Given the description of an element on the screen output the (x, y) to click on. 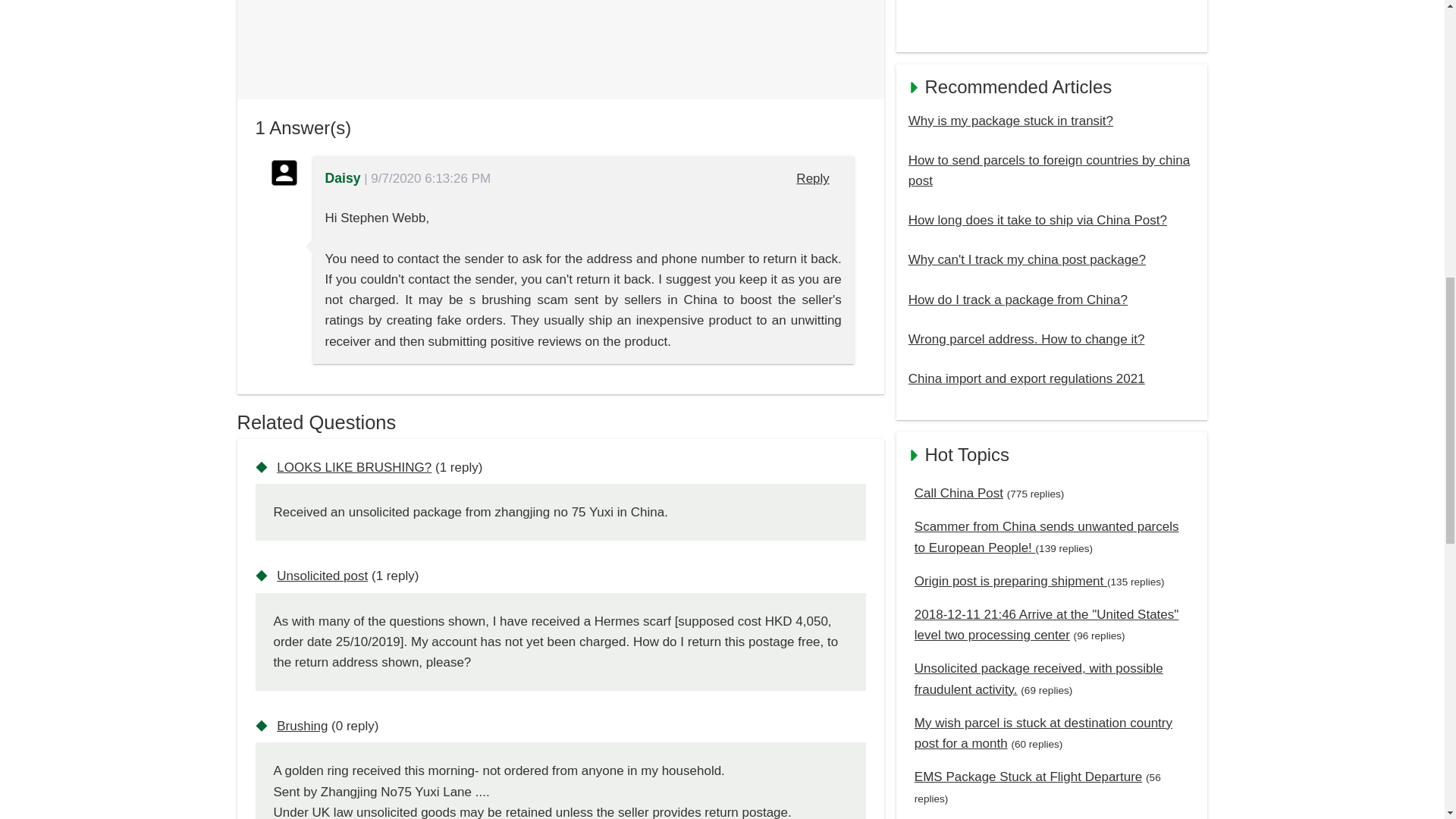
Unsolicited post (322, 575)
Reply (812, 178)
Call China Post (958, 493)
LOOKS LIKE BRUSHING? (353, 467)
Brushing (301, 726)
Unsolicited post (322, 575)
Brushing (301, 726)
Advertisement (560, 37)
Origin post is preparing shipment  (1010, 581)
Advertisement (1051, 20)
LOOKS LIKE BRUSHING? (353, 467)
